Given the description of an element on the screen output the (x, y) to click on. 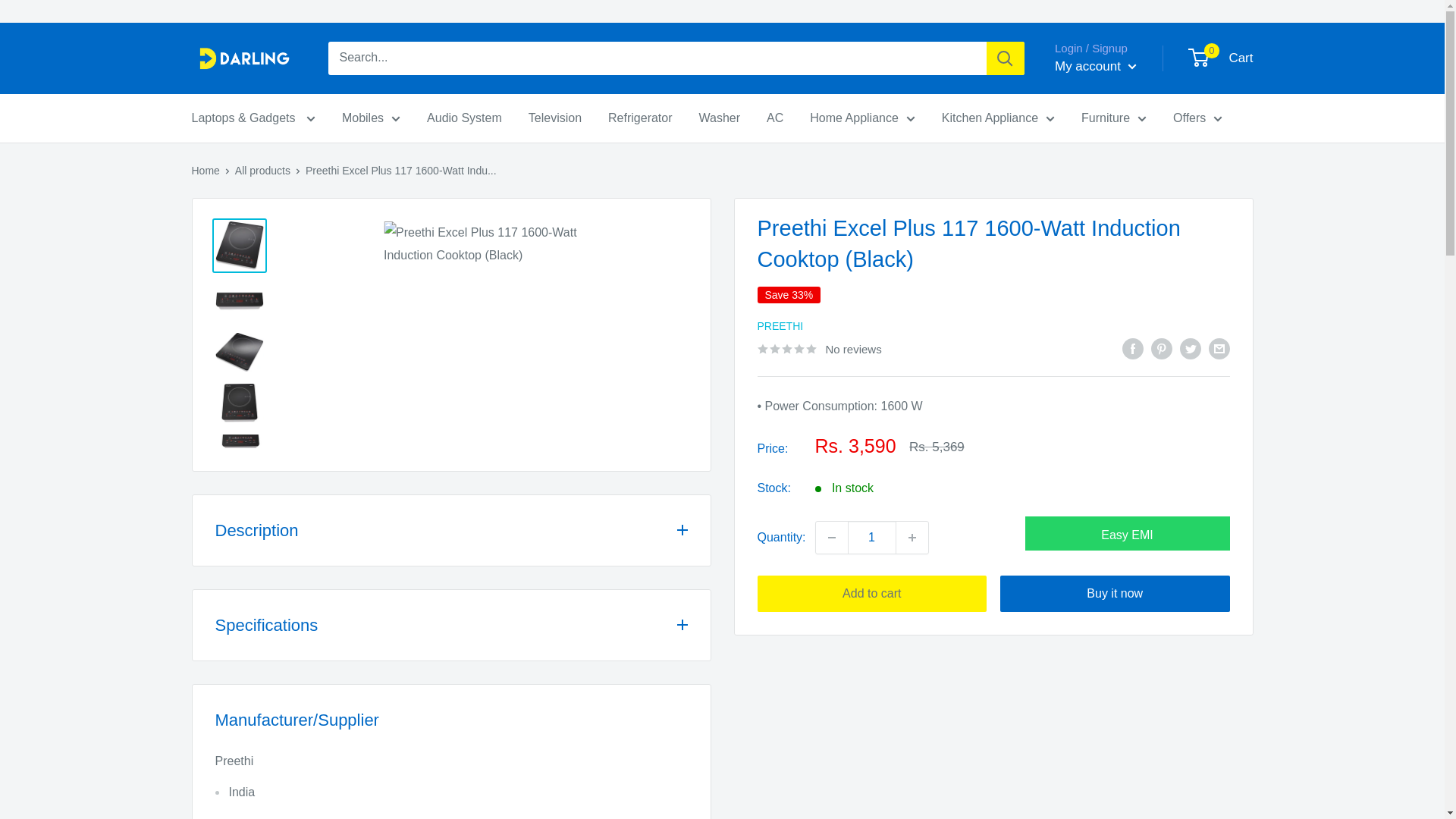
1 (871, 537)
Increase quantity by 1 (912, 537)
Decrease quantity by 1 (831, 537)
